Given the description of an element on the screen output the (x, y) to click on. 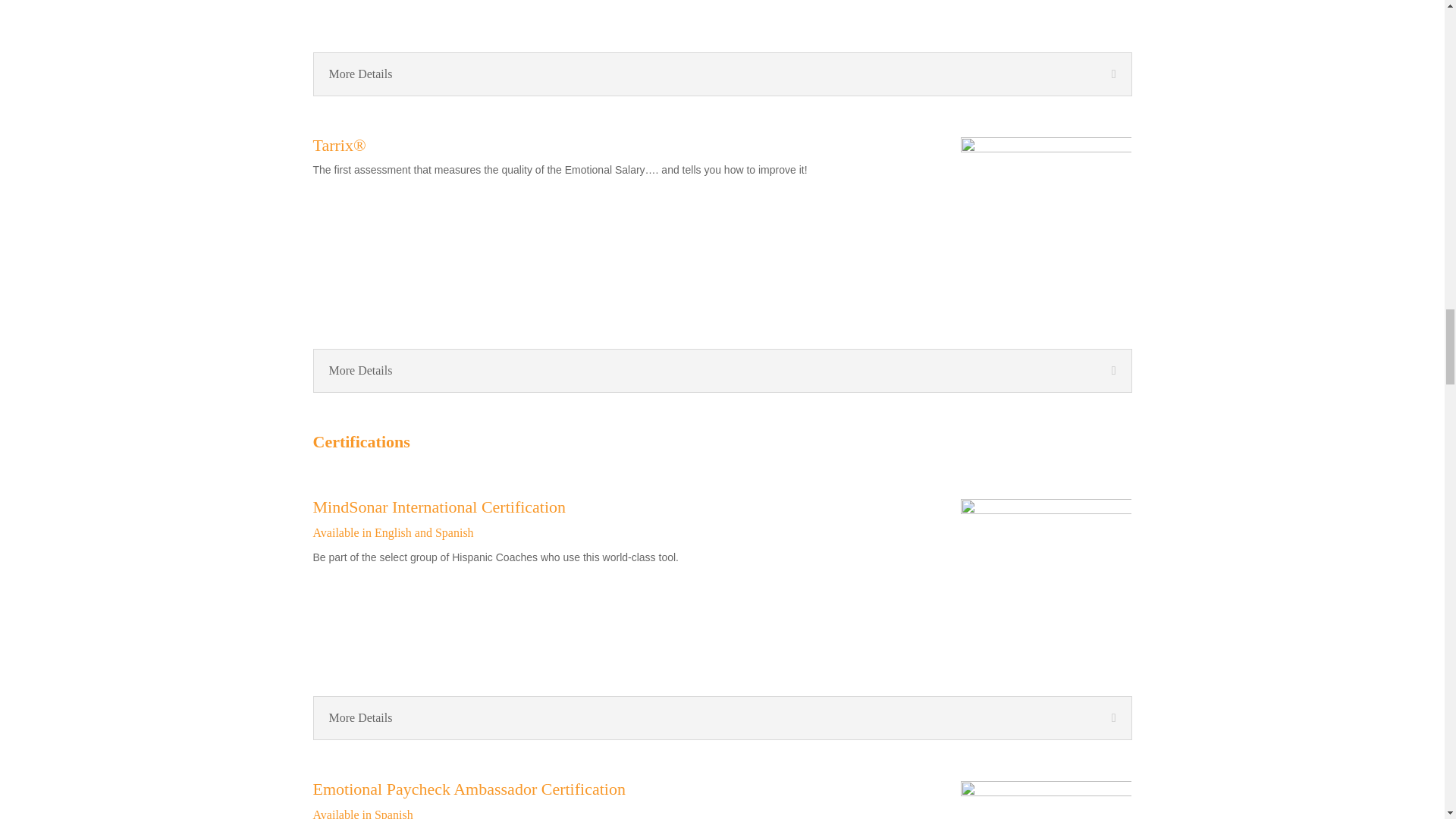
Logo-Tarrix (1045, 222)
Mindsonar LOGO BIG (1045, 576)
Mindsonar LOGO BIG (1045, 5)
